Given the description of an element on the screen output the (x, y) to click on. 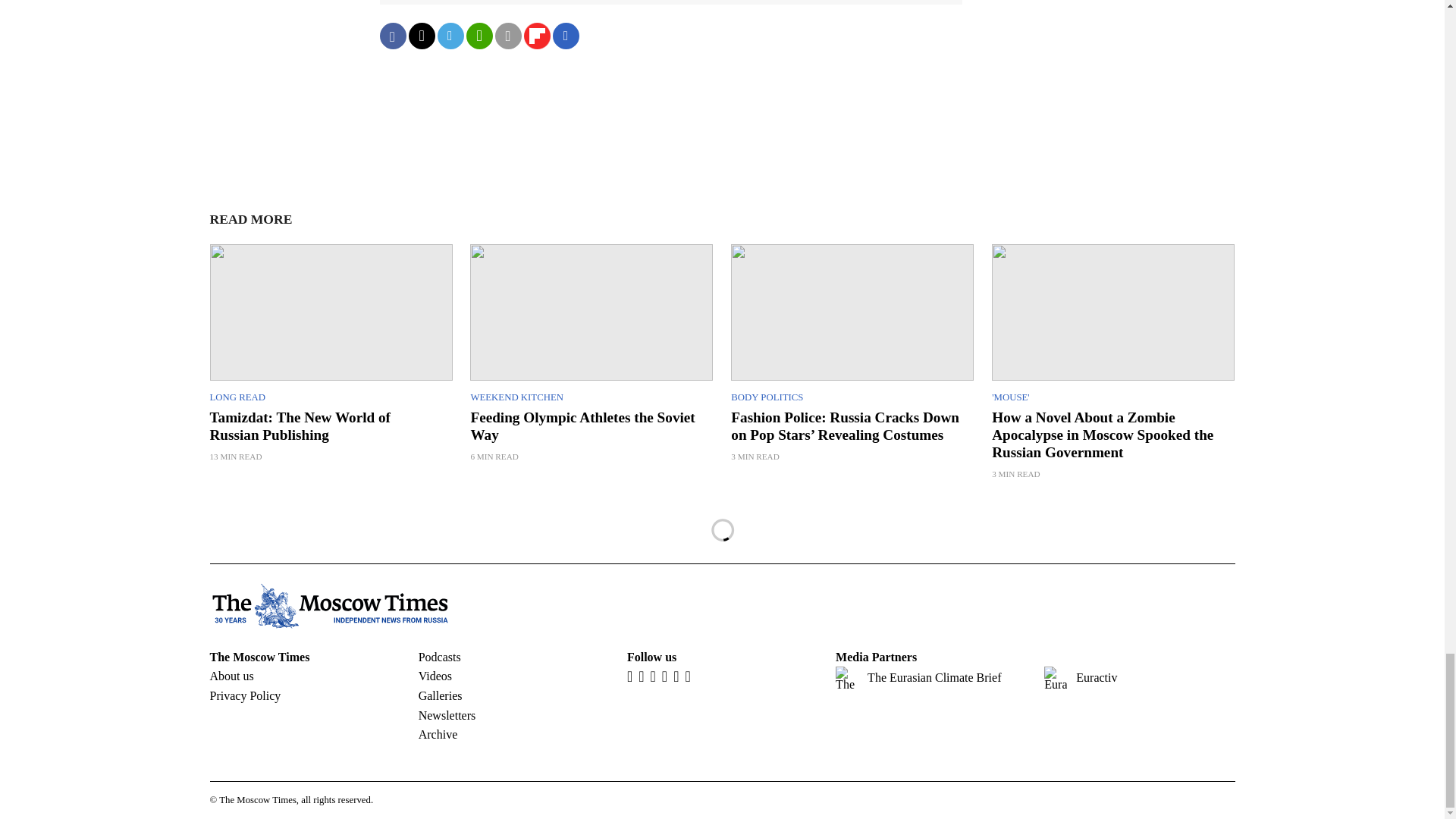
Share on Facebook (392, 35)
Share on Twitter (420, 35)
Share on Telegram (449, 35)
Share on Flipboard (536, 35)
